Given the description of an element on the screen output the (x, y) to click on. 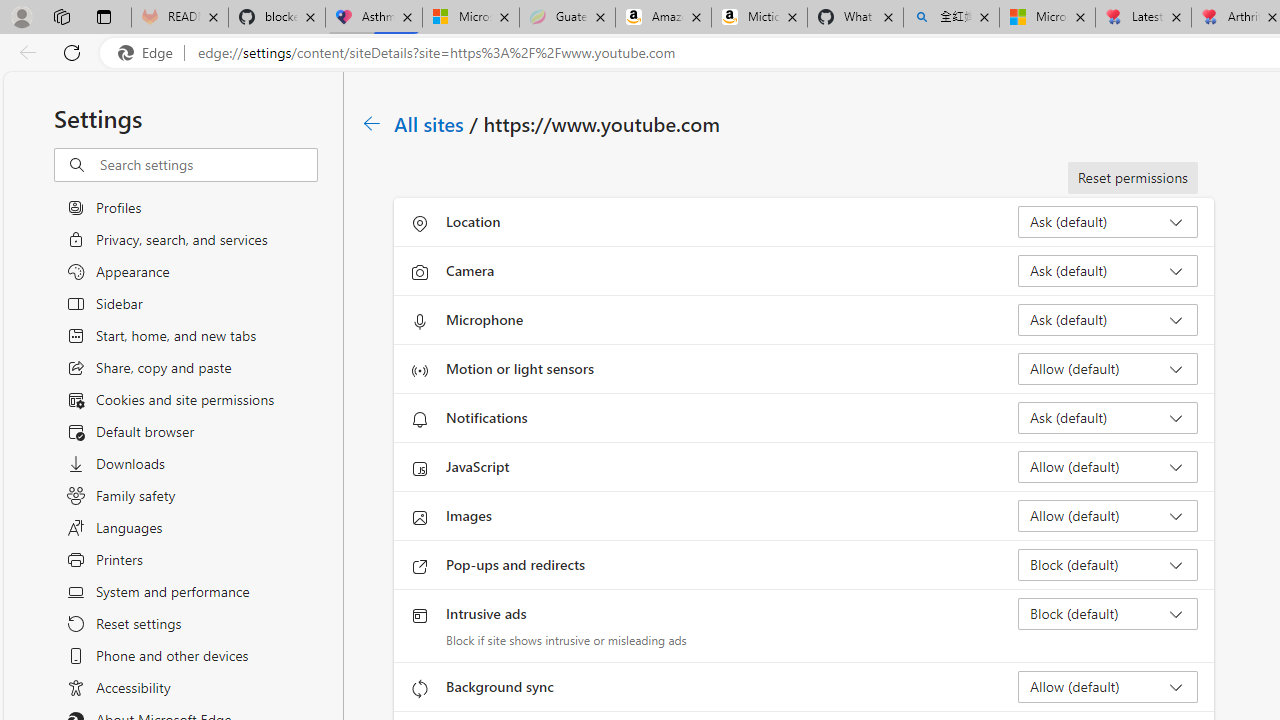
Class: c01162 (371, 123)
Go back to All sites page. (372, 123)
Reset permissions (1132, 177)
Motion or light sensors Allow (default) (1107, 368)
Background sync Allow (default) (1107, 686)
Intrusive ads Block (default) (1107, 614)
Location Ask (default) (1107, 221)
Edge (150, 53)
Microphone Ask (default) (1107, 319)
